Given the description of an element on the screen output the (x, y) to click on. 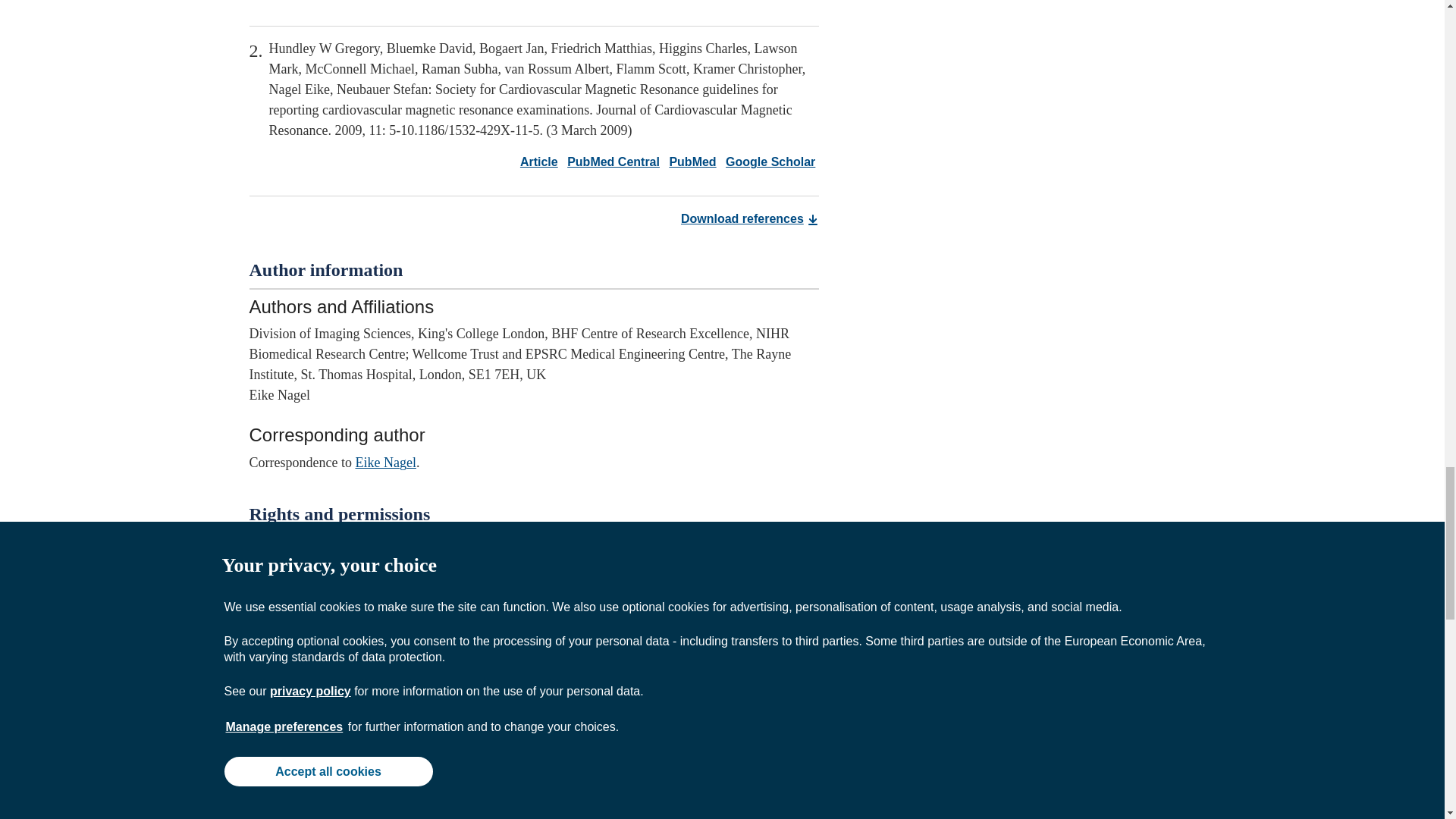
Google Scholar (767, 162)
PubMed (689, 0)
Article (538, 162)
PubMed (689, 162)
PubMed Central (609, 0)
PubMed Central (609, 162)
Article (538, 0)
Google Scholar (767, 0)
Download references (749, 218)
